Given the description of an element on the screen output the (x, y) to click on. 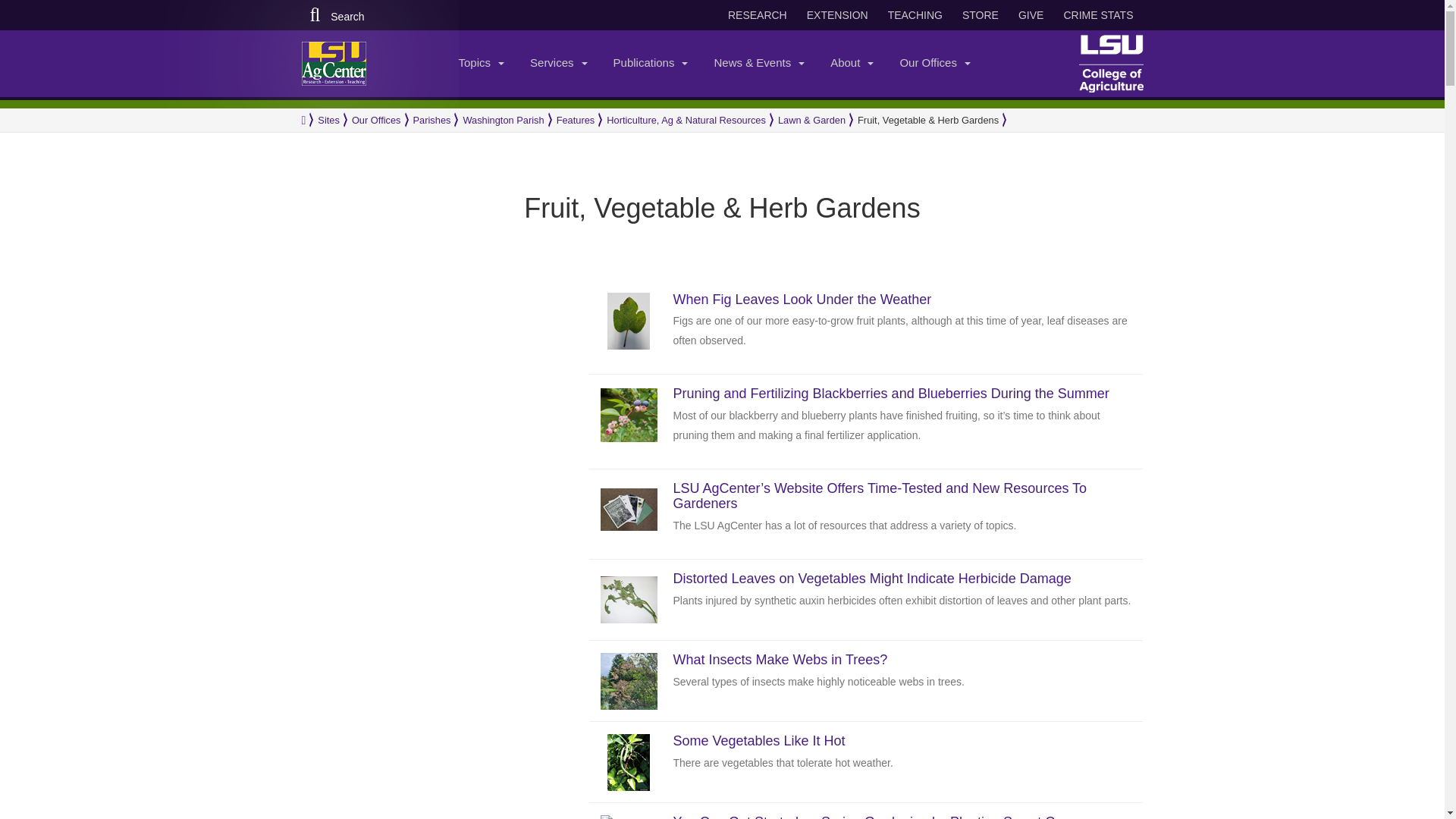
Extension (837, 14)
Research (757, 14)
Store (980, 14)
Crime Stats - LSU AgCenter (1097, 14)
Give to LSU AgCenter (1030, 14)
Teaching (915, 14)
